Given the description of an element on the screen output the (x, y) to click on. 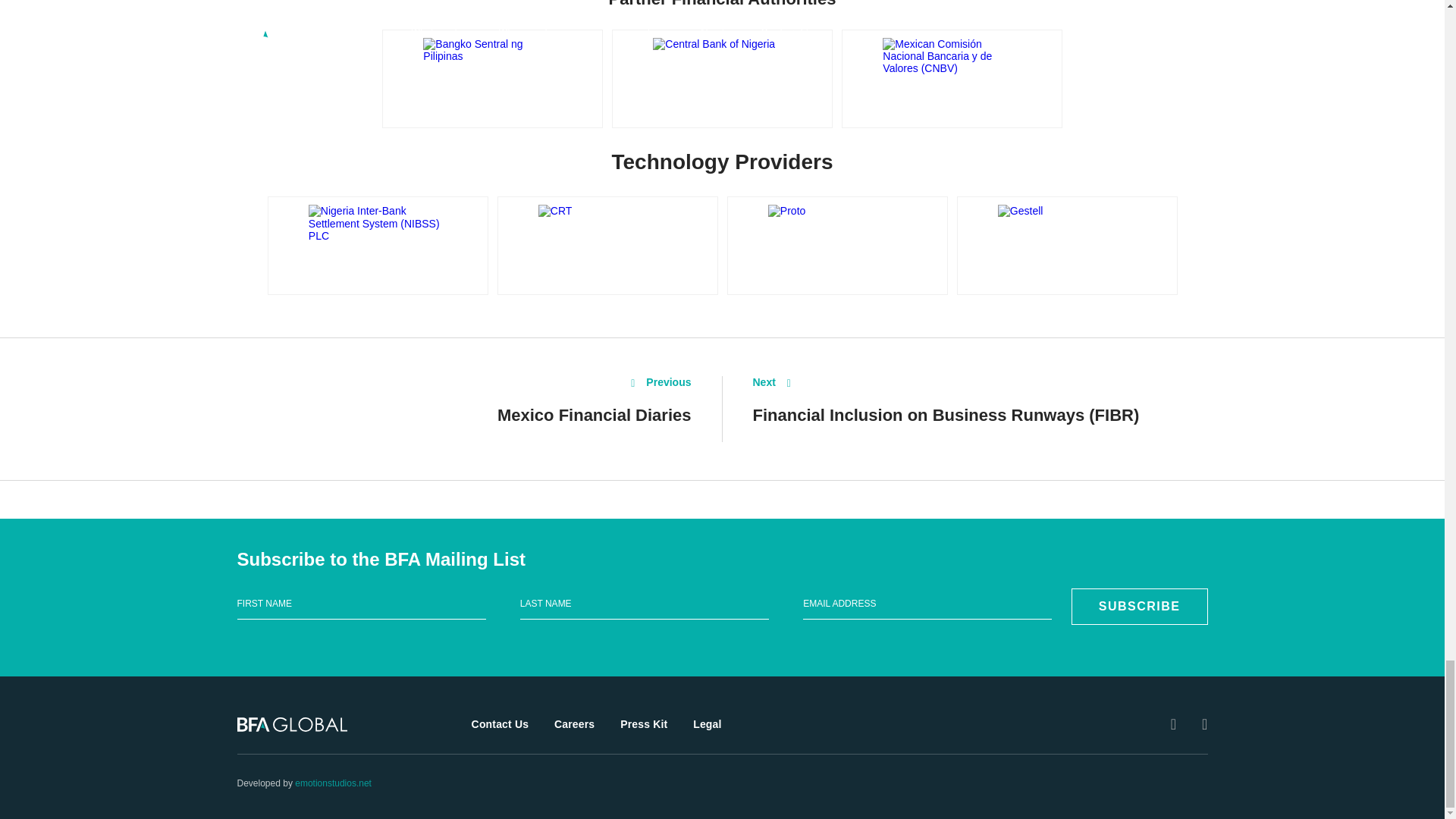
Central Bank of Nigeria (721, 78)
Bangko Sentral ng Pilipinas (491, 78)
